Given the description of an element on the screen output the (x, y) to click on. 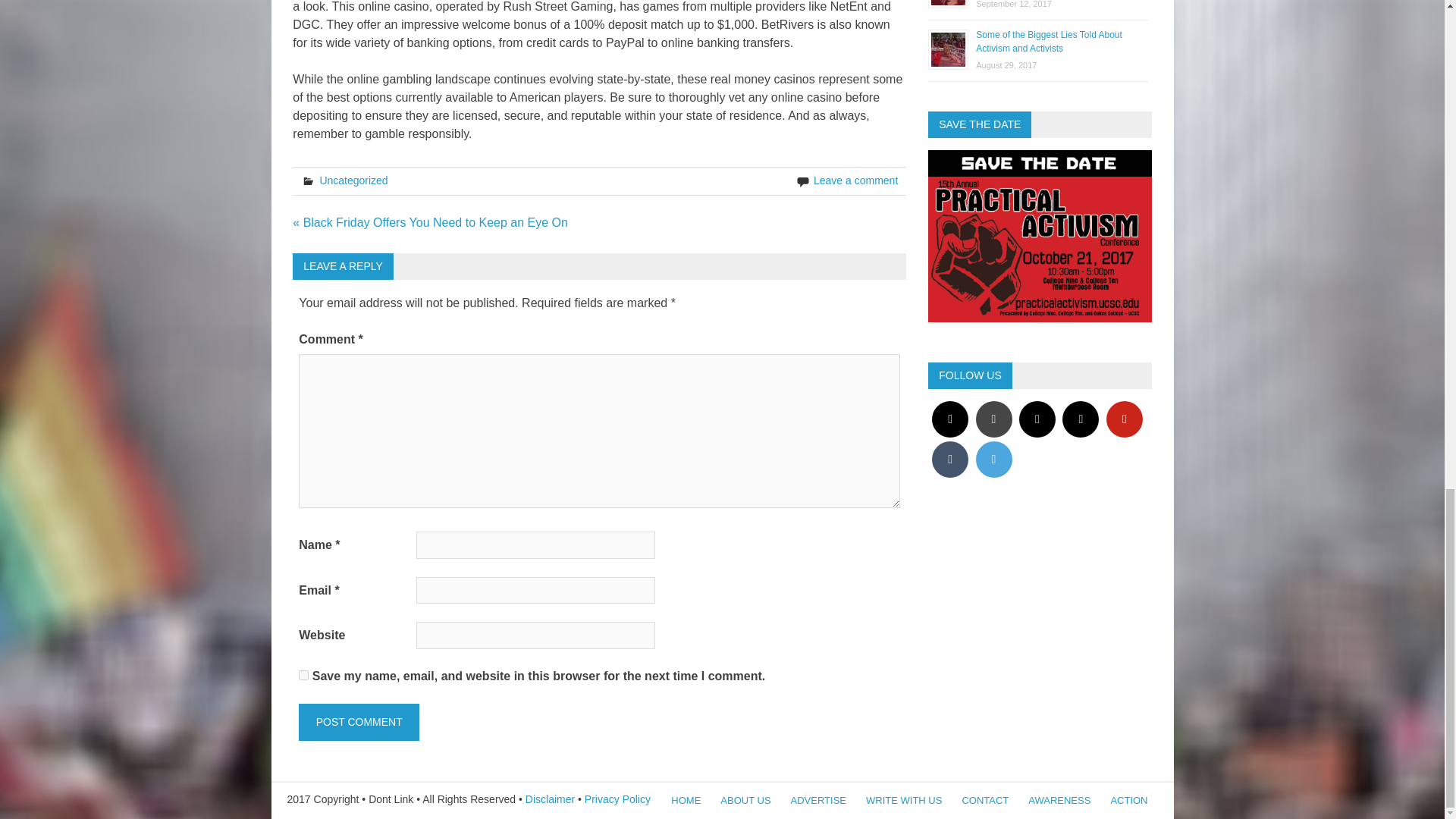
Ello (1037, 419)
Post Comment (358, 722)
Leave a comment (855, 180)
Post Comment (358, 722)
Uncategorized (352, 180)
yes (303, 675)
Instagram (949, 419)
WordPress (993, 419)
